Given the description of an element on the screen output the (x, y) to click on. 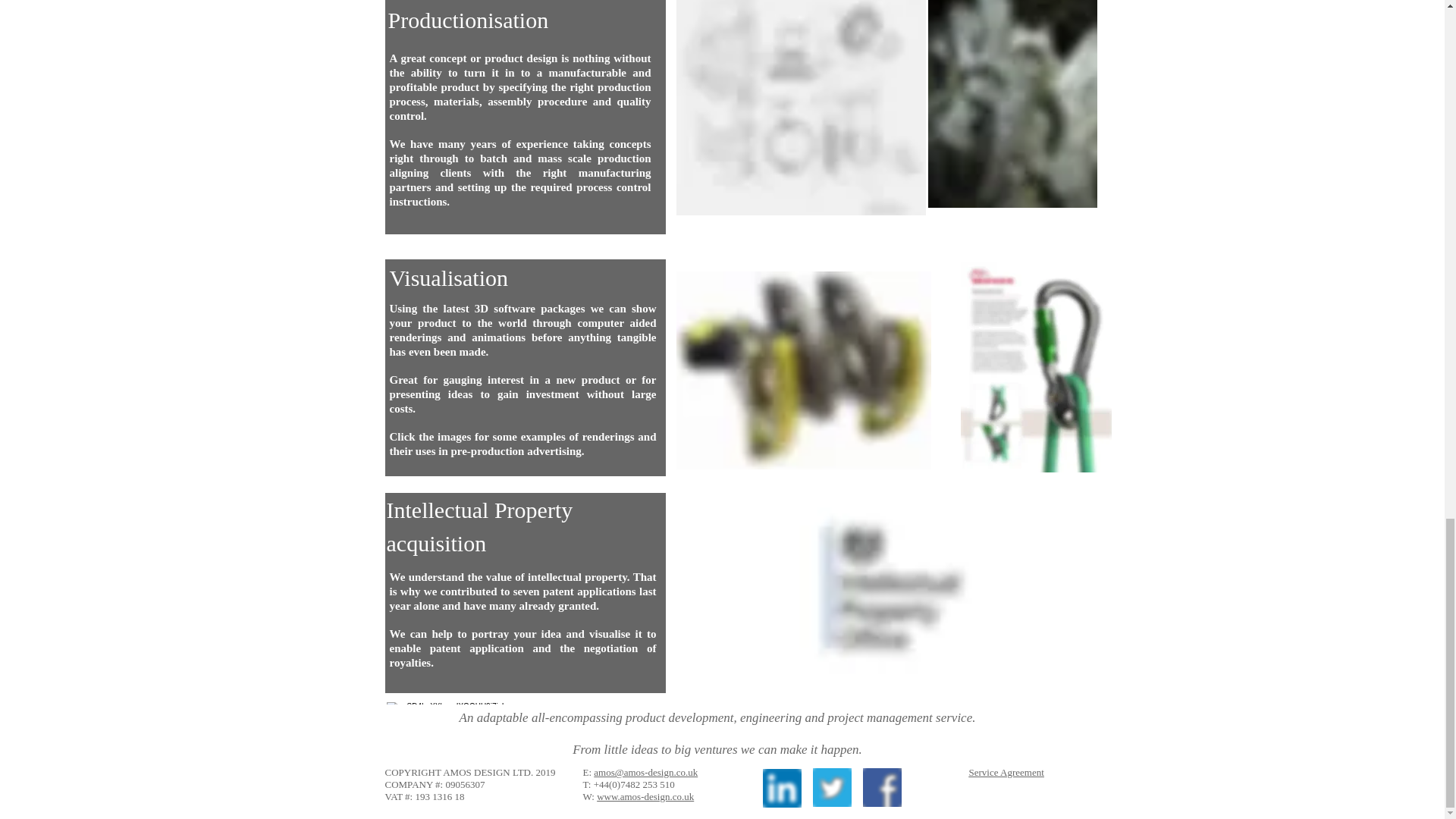
Service Agreement (1006, 772)
www.amos-design.co.uk (645, 796)
